Given the description of an element on the screen output the (x, y) to click on. 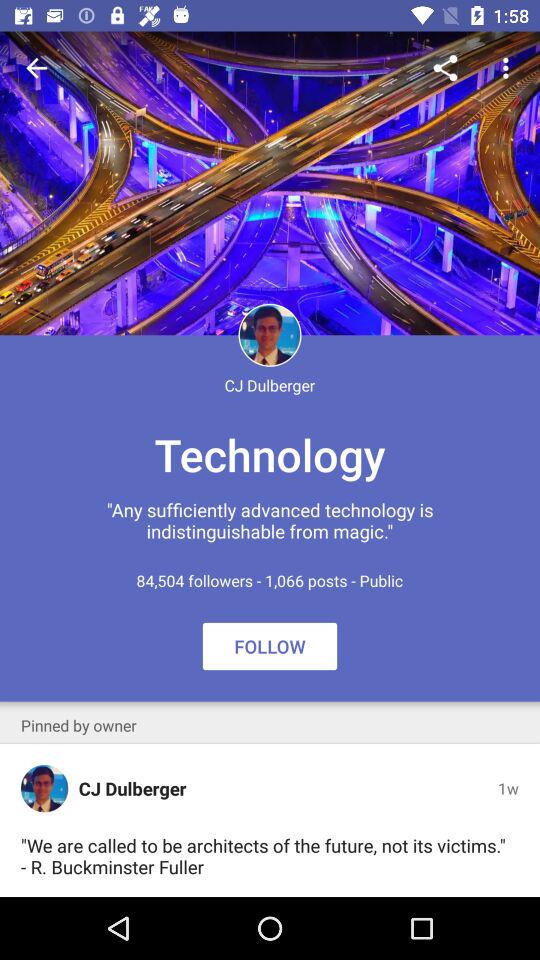
launch the icon at the top left corner (36, 68)
